Given the description of an element on the screen output the (x, y) to click on. 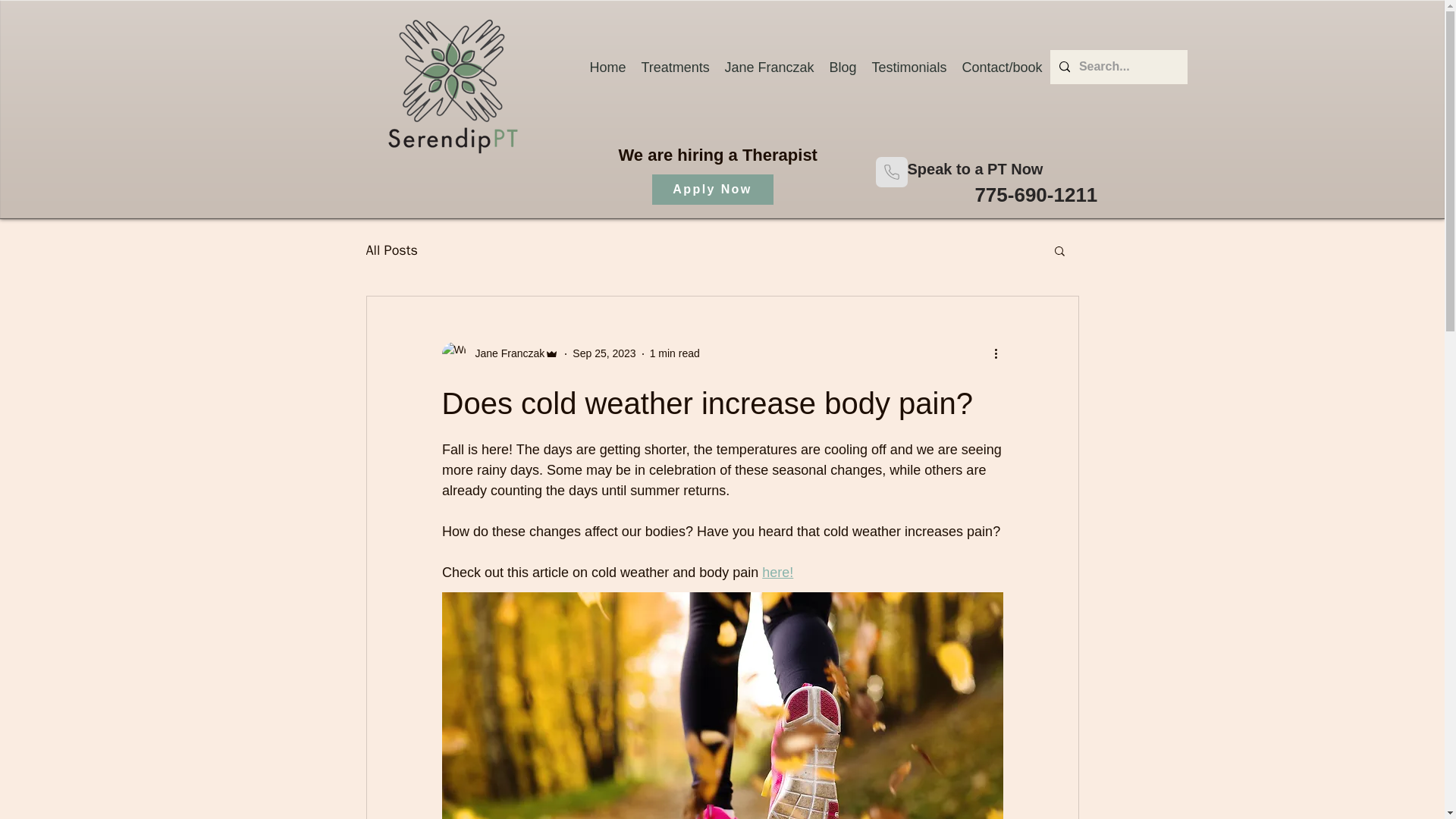
here! (777, 572)
Blog (843, 66)
Jane Franczak (769, 66)
Testimonials (909, 66)
Jane Franczak (504, 353)
Home (607, 66)
All Posts (390, 249)
Sep 25, 2023 (603, 353)
Apply Now (712, 189)
1 min read (674, 353)
